Given the description of an element on the screen output the (x, y) to click on. 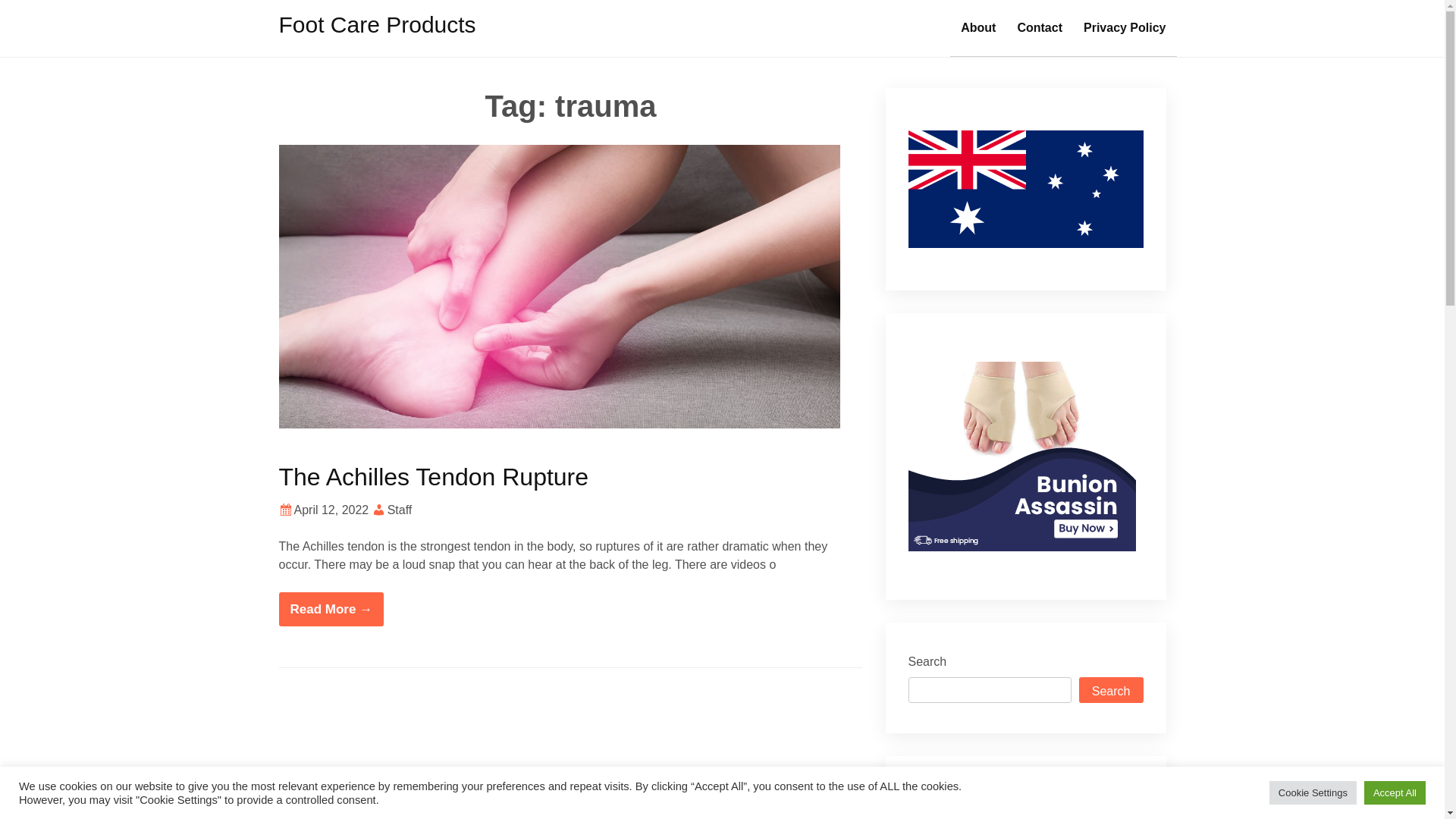
Bunion Assassin Element type: hover (1021, 456)
Foot Care Products Element type: text (377, 24)
Search Element type: text (1111, 689)
About Element type: text (978, 28)
Contact Element type: text (1039, 28)
Staff Element type: text (399, 509)
The Achilles Tendon Rupture Element type: text (434, 476)
Accept All Element type: text (1394, 792)
Privacy Policy Element type: text (1124, 28)
Cookie Settings Element type: text (1312, 792)
